Given the description of an element on the screen output the (x, y) to click on. 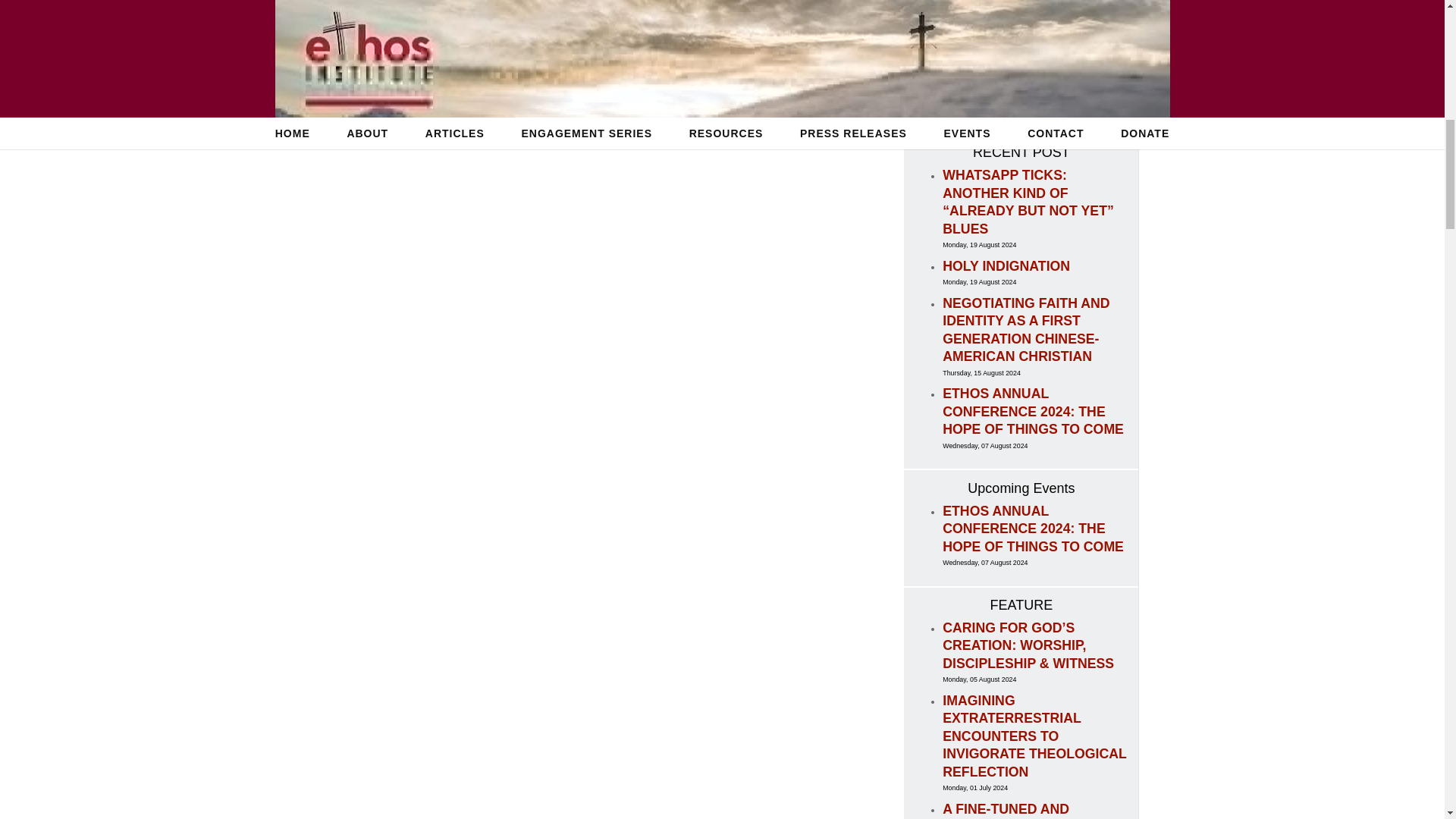
HOLY INDIGNATION (1006, 265)
A FINE-TUNED AND DESIGNED UNIVERSE (1013, 810)
ETHOS ANNUAL CONFERENCE 2024: THE HOPE OF THINGS TO COME (1033, 528)
ETHOS ANNUAL CONFERENCE 2024: THE HOPE OF THINGS TO COME (1033, 410)
